Given the description of an element on the screen output the (x, y) to click on. 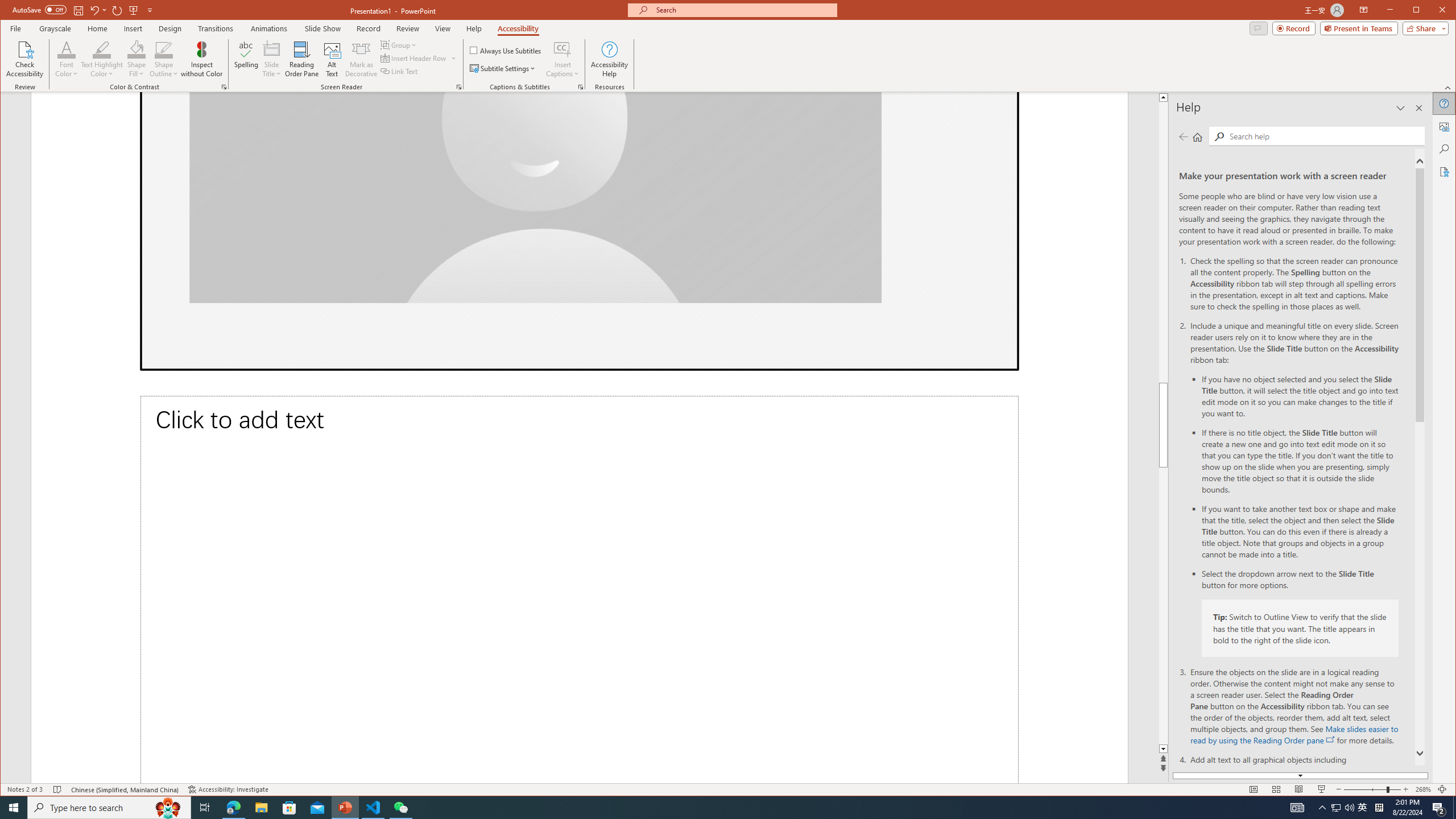
Screen Reader (458, 86)
